Given the description of an element on the screen output the (x, y) to click on. 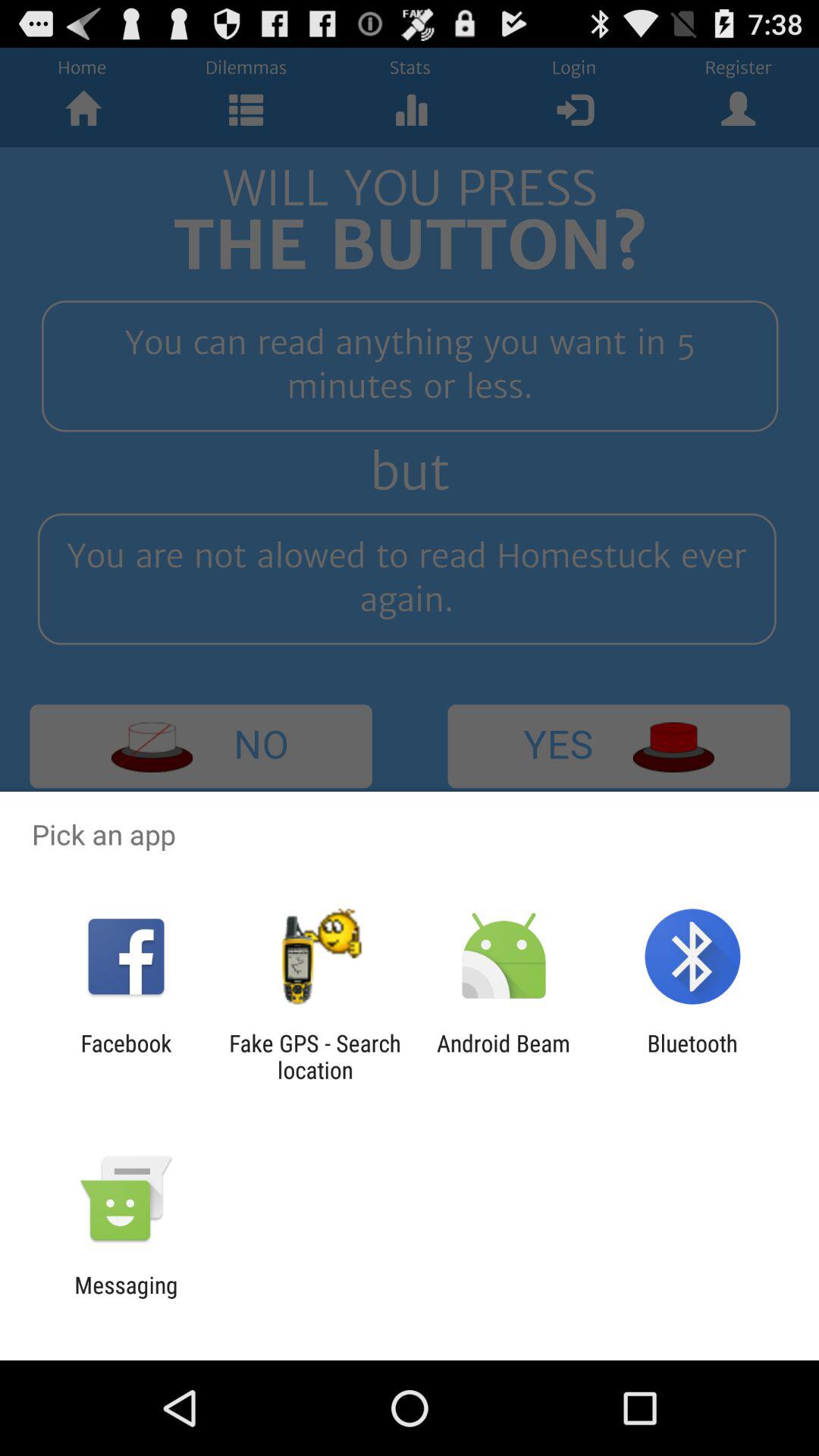
tap the facebook icon (125, 1056)
